Given the description of an element on the screen output the (x, y) to click on. 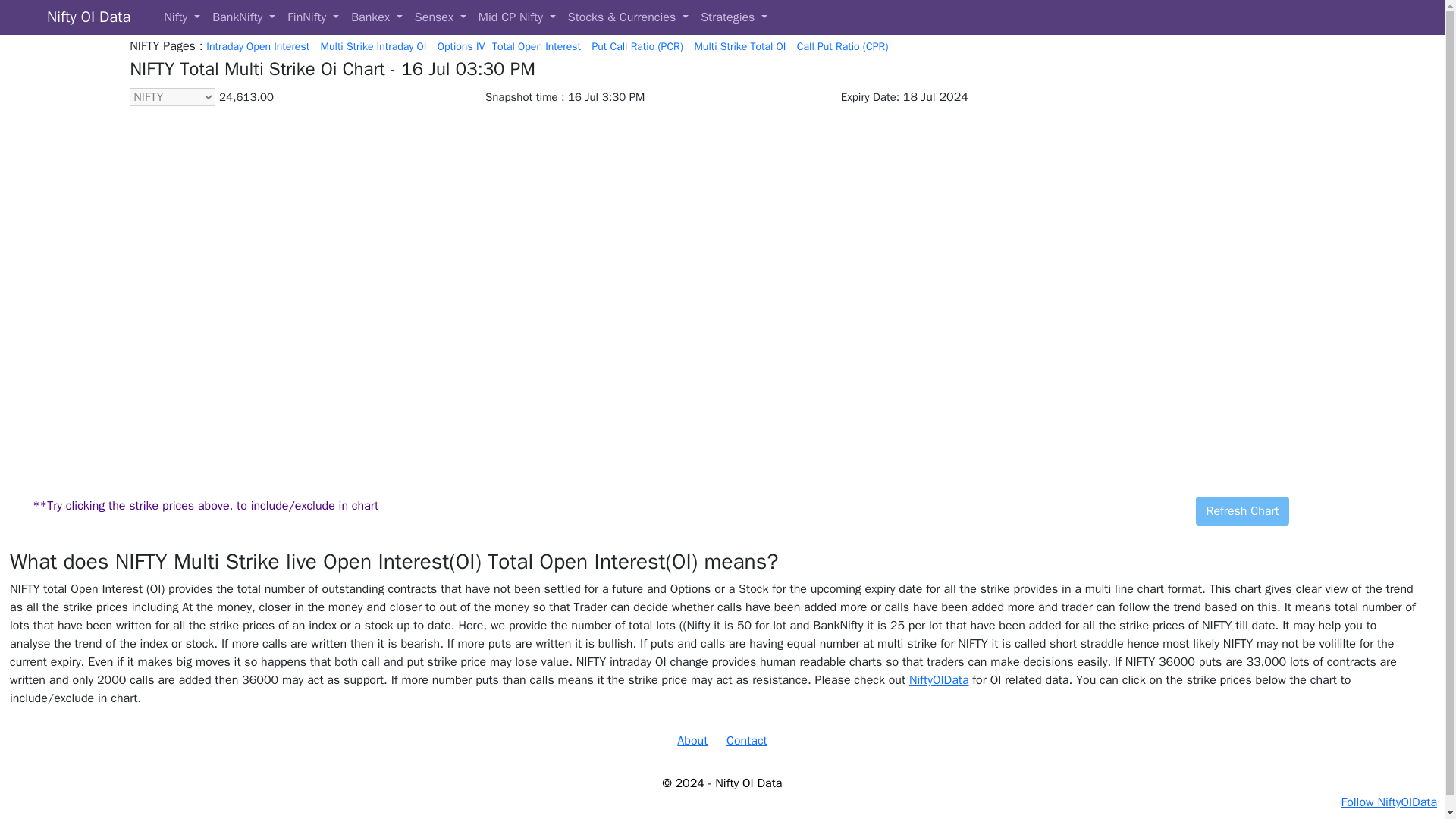
Nifty (181, 17)
BankNifty (243, 17)
FinNifty (313, 17)
Sensex (440, 17)
Nifty OI Data (88, 17)
Bankex (377, 17)
